Given the description of an element on the screen output the (x, y) to click on. 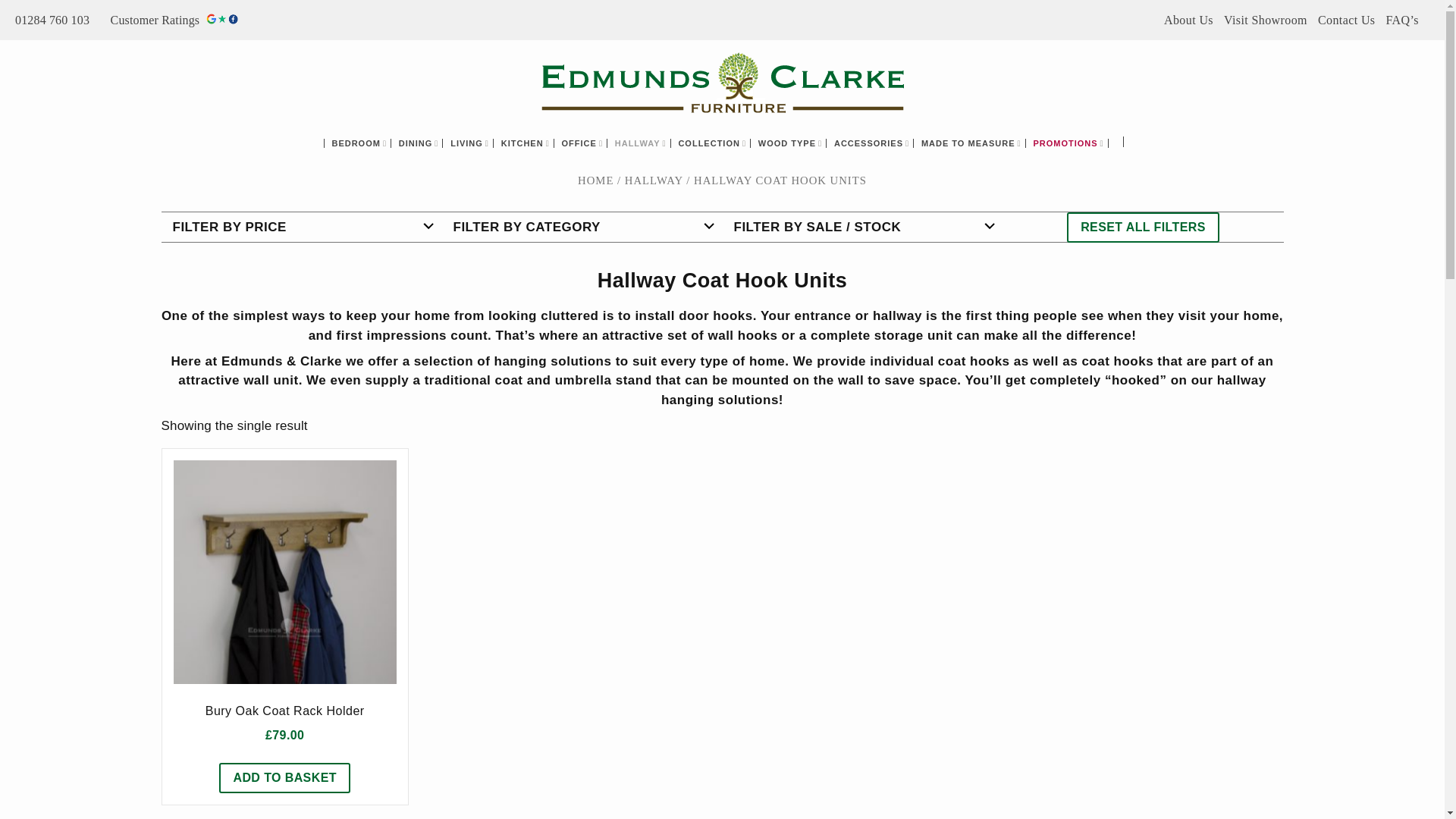
About Us (1187, 19)
DINING (421, 143)
Visit Showroom (1265, 19)
BEDROOM (360, 143)
Contact Us (1346, 19)
View your shopping cart (1128, 142)
01284 760 103    (56, 19)
LIVING (471, 143)
Customer Ratings  (174, 19)
